Given the description of an element on the screen output the (x, y) to click on. 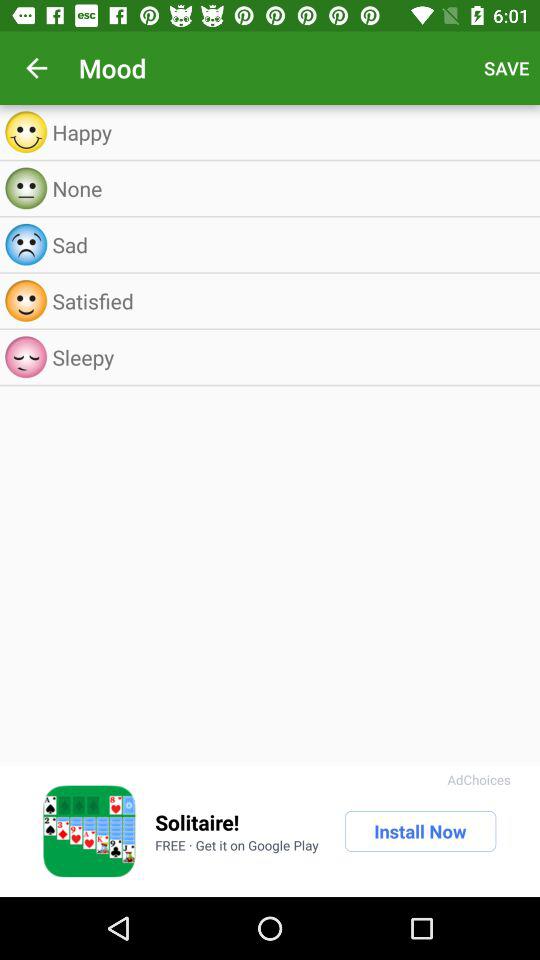
by clicking this icon you will be directed to install the solitaire app (89, 831)
